Given the description of an element on the screen output the (x, y) to click on. 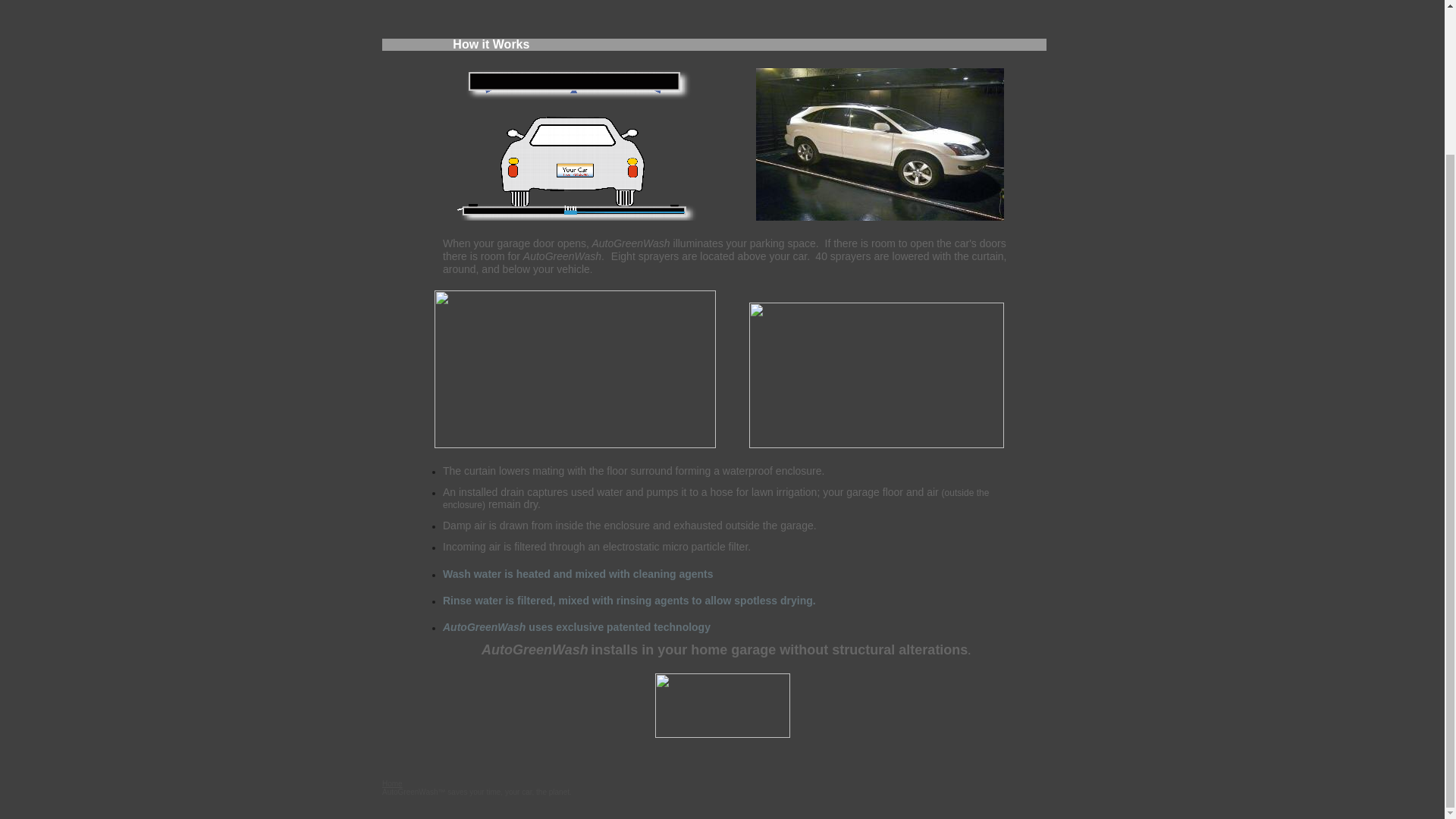
Home (392, 783)
